Given the description of an element on the screen output the (x, y) to click on. 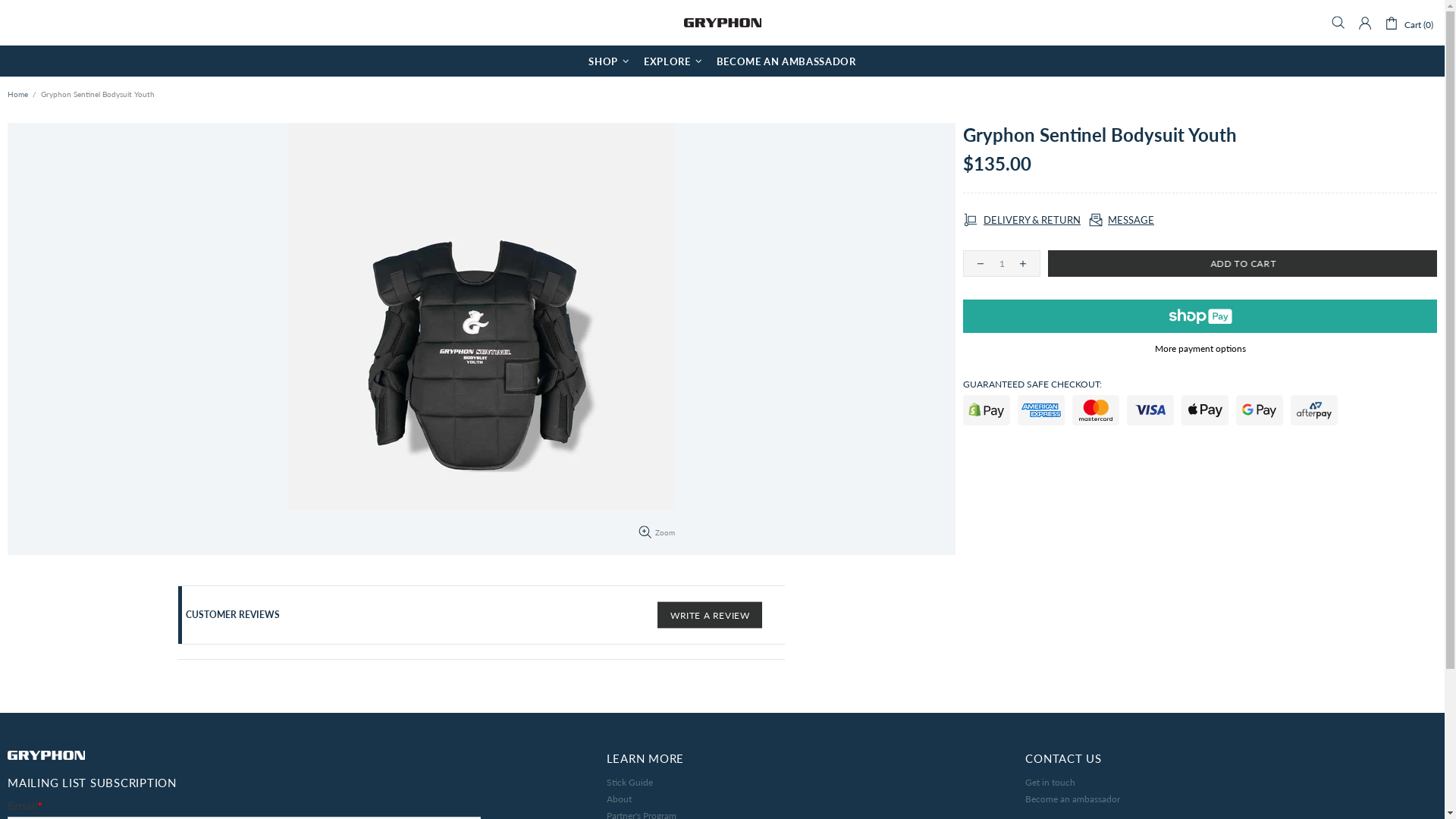
BECOME AN AMBASSADOR Element type: text (786, 60)
ADD TO CART Element type: text (1242, 263)
SHOP Element type: text (610, 60)
Cart (0) Element type: text (1408, 22)
Get in touch Element type: text (1050, 782)
Become an ambassador Element type: text (1072, 799)
More payment options Element type: text (1200, 348)
GRYPHON Australia Element type: text (722, 22)
EXPLORE Element type: text (674, 60)
WRITE A REVIEW Element type: text (709, 615)
Home Element type: text (17, 93)
GRYPHON Australia Element type: text (45, 754)
About Element type: text (618, 799)
Stick Guide Element type: text (629, 782)
